Given the description of an element on the screen output the (x, y) to click on. 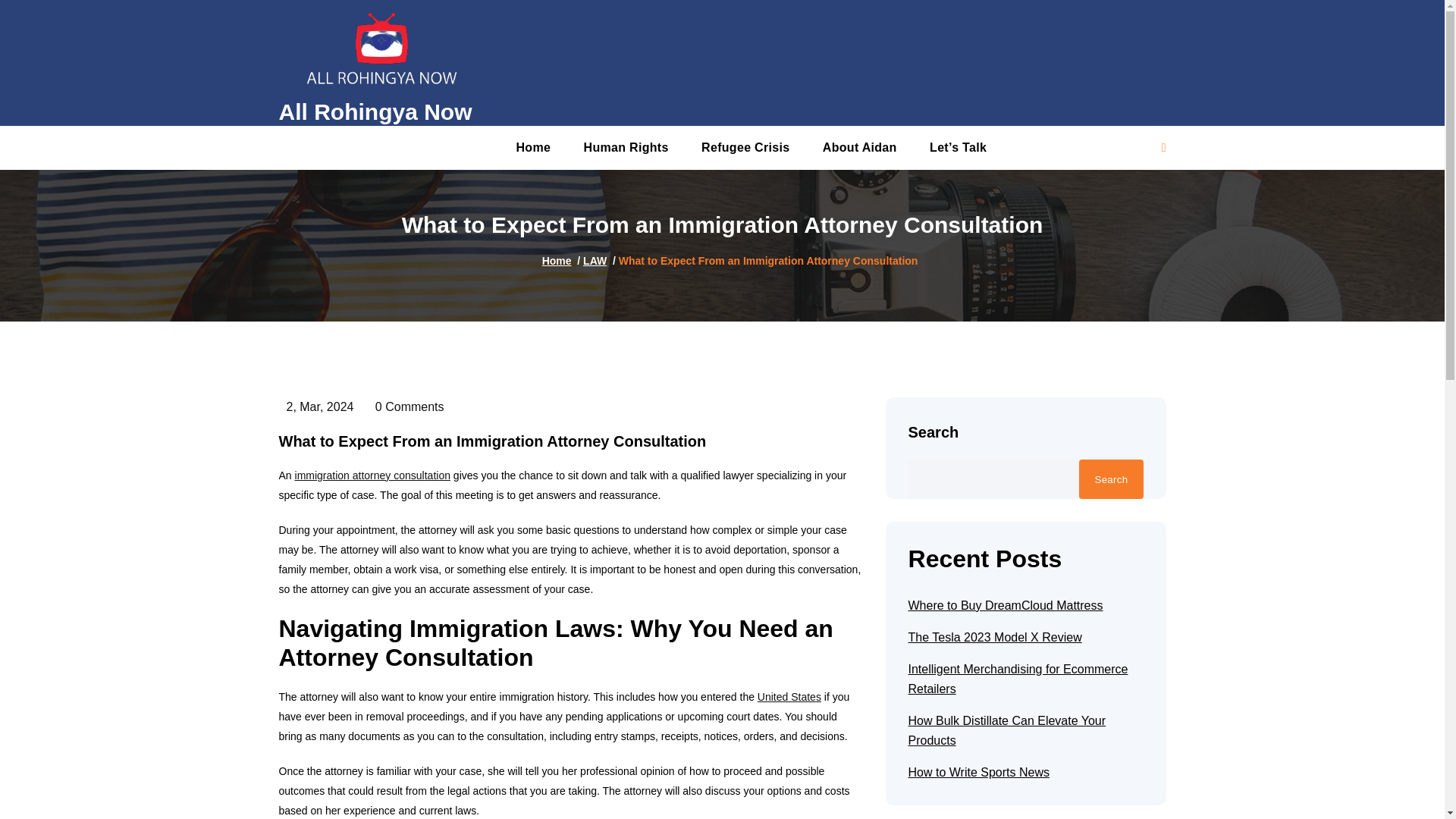
Human Rights (626, 147)
Home (532, 147)
2, Mar, 2024 (316, 406)
How Bulk Distillate Can Elevate Your Products (1025, 731)
Refugee Crisis (745, 147)
Refugee Crisis (745, 147)
How to Write Sports News (978, 772)
0 Comments (406, 406)
Intelligent Merchandising for Ecommerce Retailers (1025, 679)
United States (789, 696)
All Rohingya Now (375, 112)
LAW (595, 260)
About Aidan (859, 147)
The Tesla 2023 Model X Review (994, 637)
Home (532, 147)
